Given the description of an element on the screen output the (x, y) to click on. 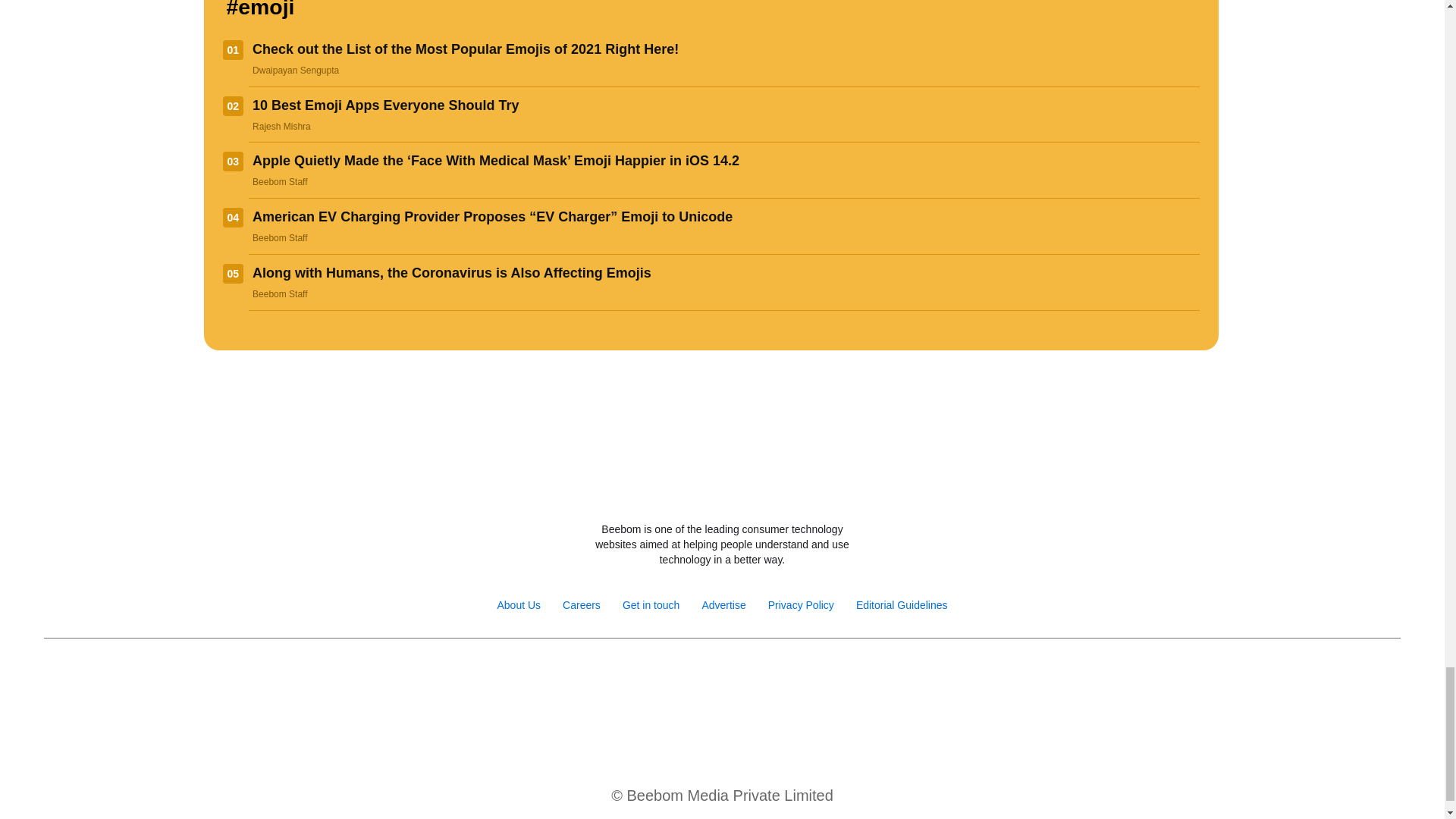
Instagram (672, 676)
Facebook (640, 676)
Beebom (721, 488)
Twitter (706, 676)
